Given the description of an element on the screen output the (x, y) to click on. 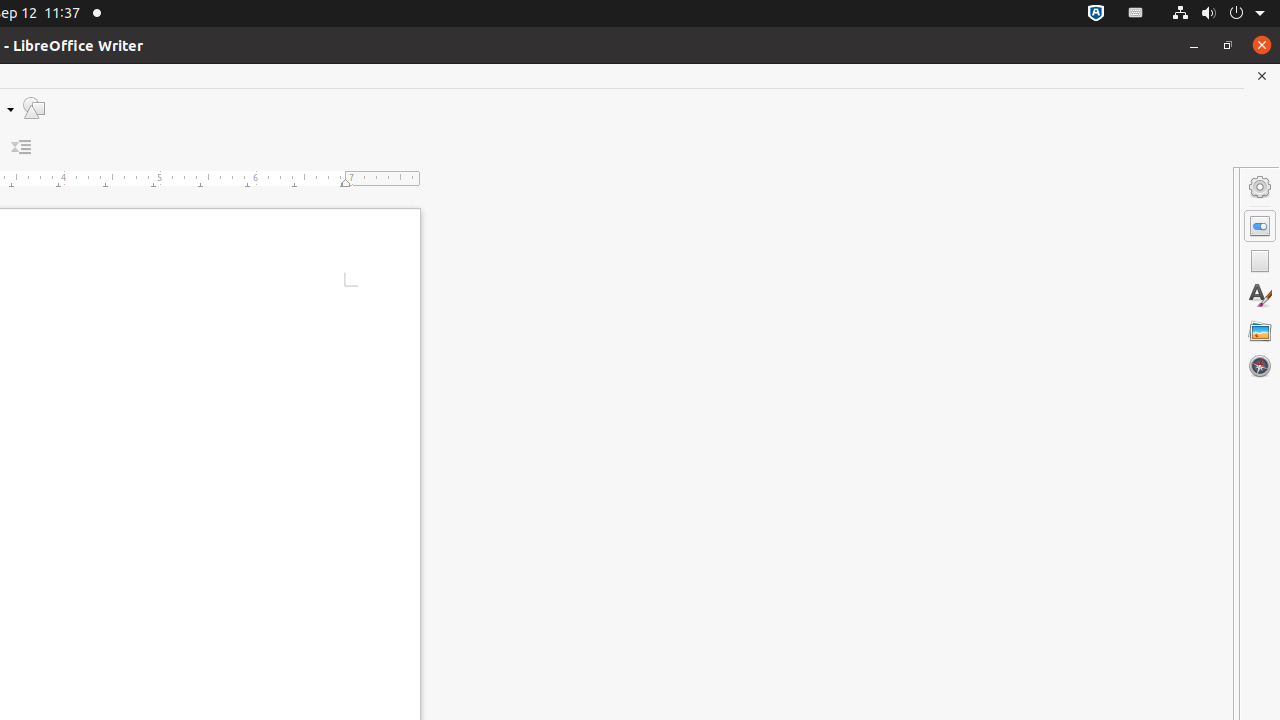
Gallery Element type: radio-button (1260, 331)
Navigator Element type: radio-button (1260, 366)
Draw Functions Element type: push-button (33, 108)
System Element type: menu (1218, 13)
Page Element type: radio-button (1260, 261)
